Given the description of an element on the screen output the (x, y) to click on. 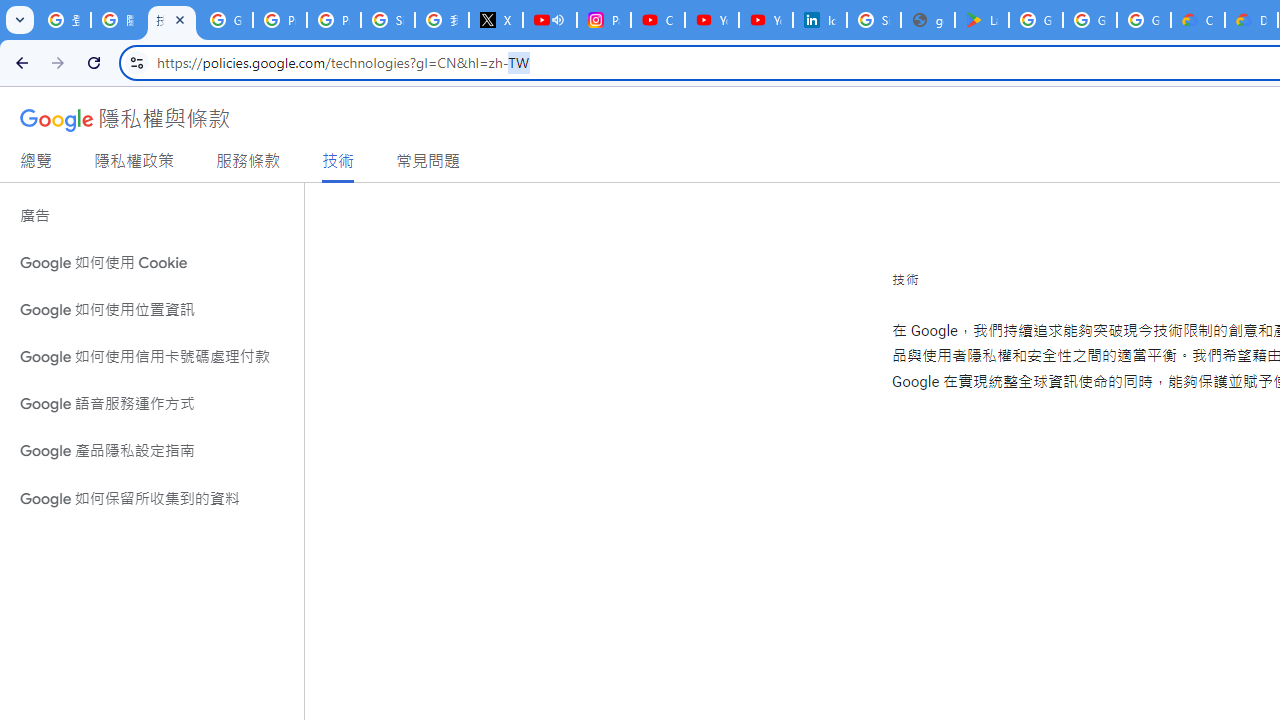
Last Shelter: Survival - Apps on Google Play (981, 20)
X (495, 20)
